Given the description of an element on the screen output the (x, y) to click on. 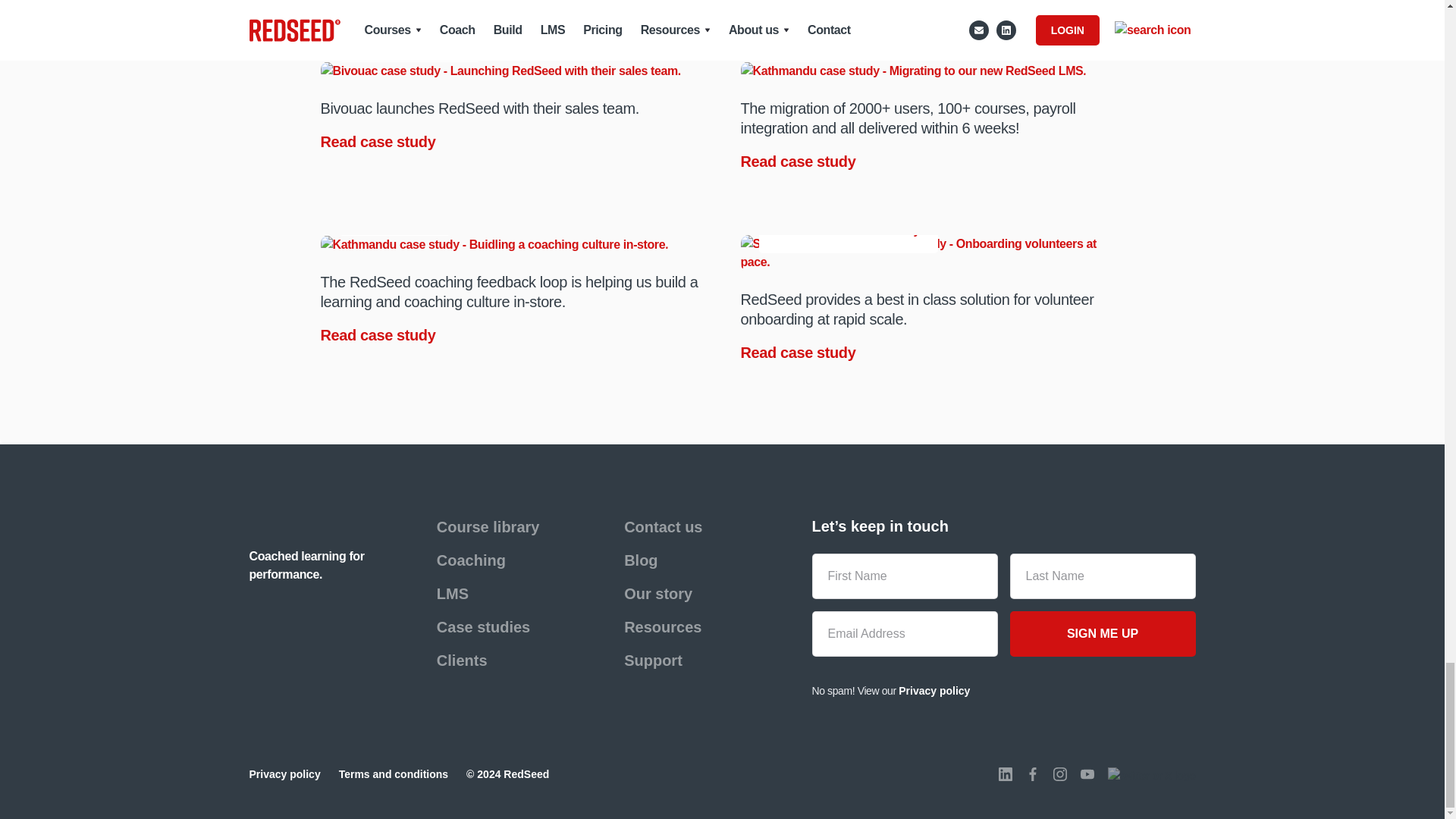
SIGN ME UP (1102, 633)
Read case study (379, 141)
